Given the description of an element on the screen output the (x, y) to click on. 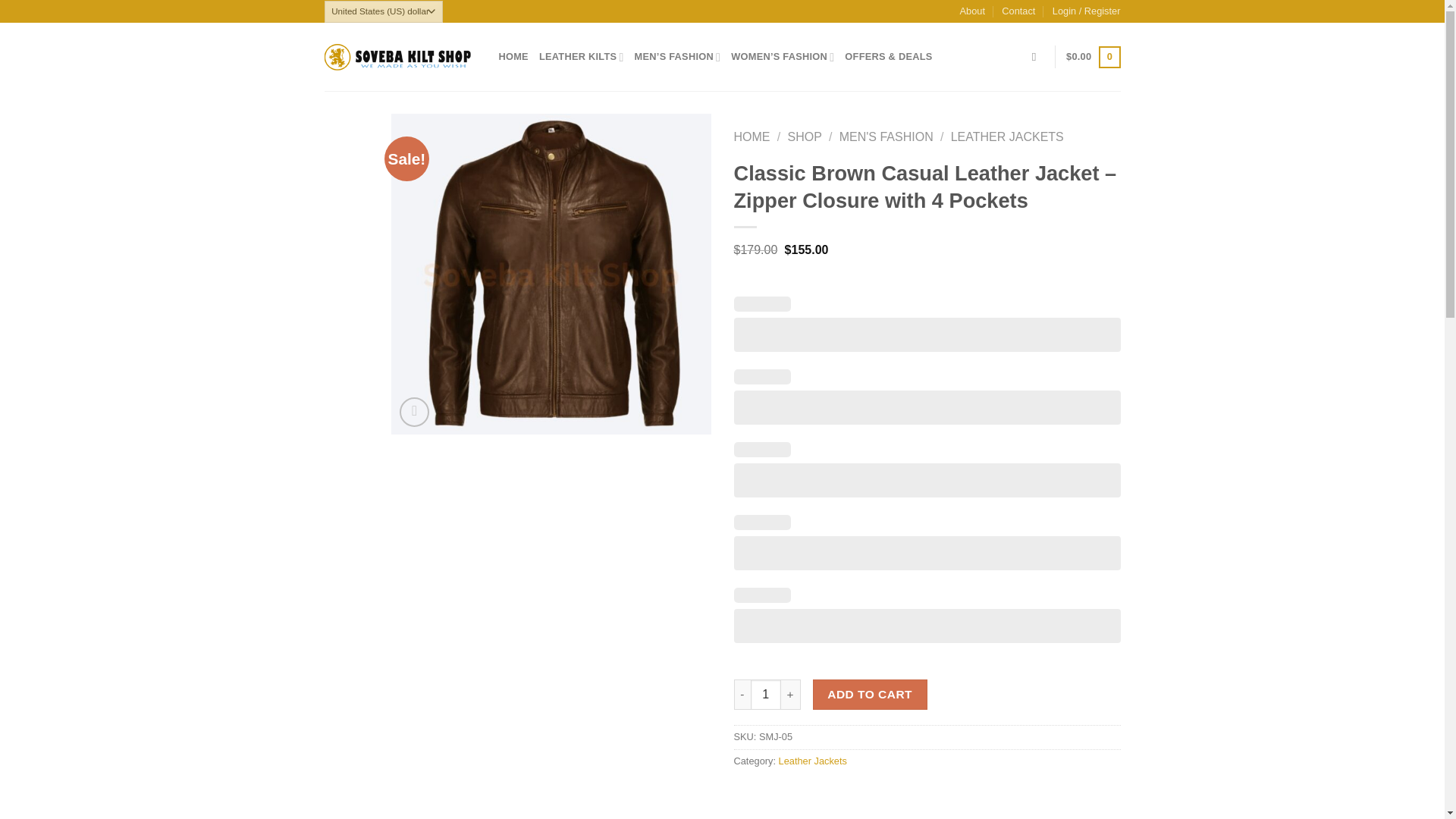
Zoom (413, 411)
HOME (513, 56)
LEATHER KILTS (581, 56)
Contact (1018, 11)
Soveba Kilt Shop - Leather Shop (400, 57)
Login (1086, 11)
1 (765, 694)
About (972, 11)
Cart (1092, 57)
